Given the description of an element on the screen output the (x, y) to click on. 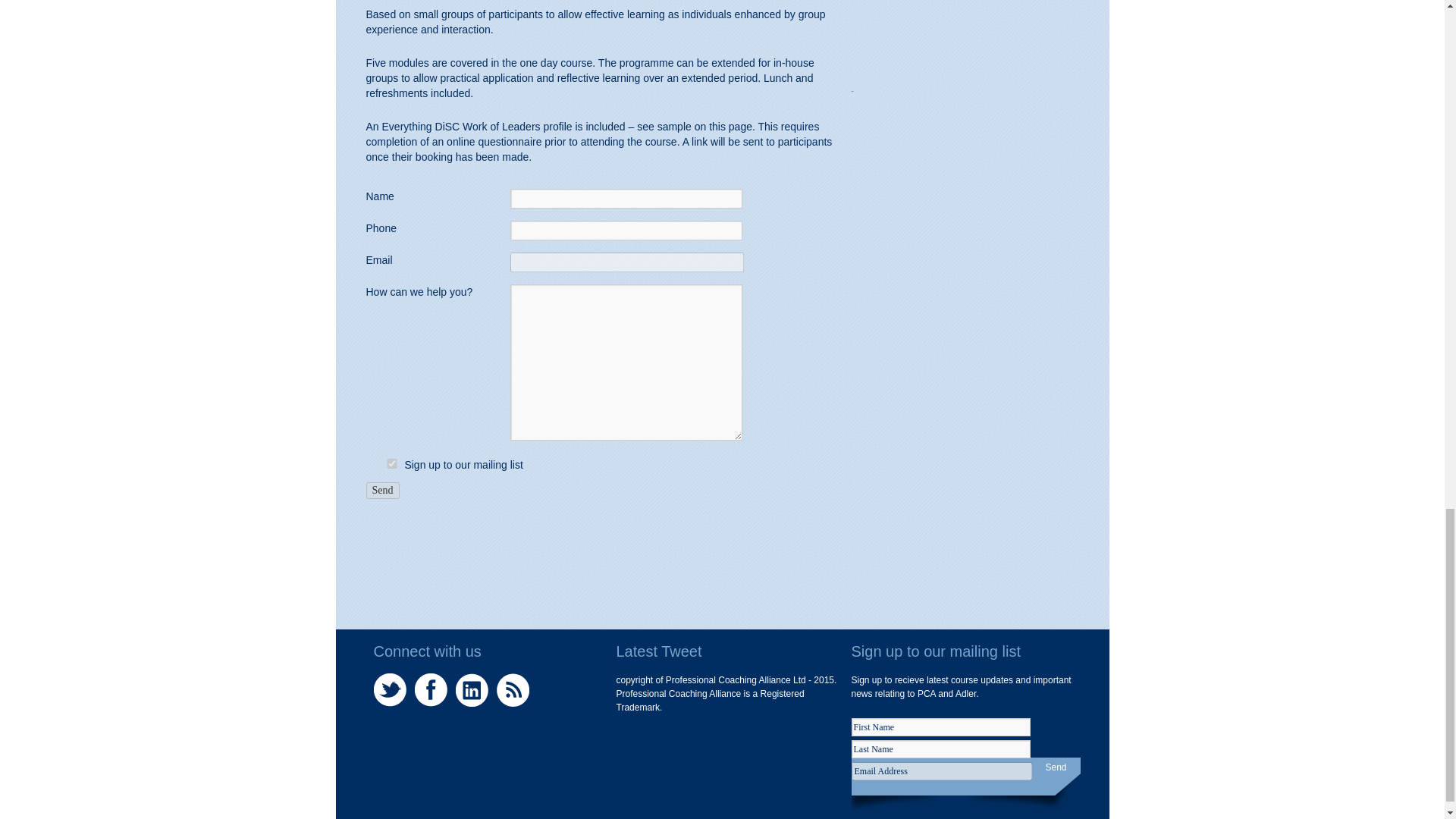
Sign up to our mailing list (391, 463)
First Name (939, 727)
Email Address (940, 771)
Send (381, 490)
Last Name (939, 749)
Send (381, 490)
Send (1055, 767)
Send (1055, 767)
